Given the description of an element on the screen output the (x, y) to click on. 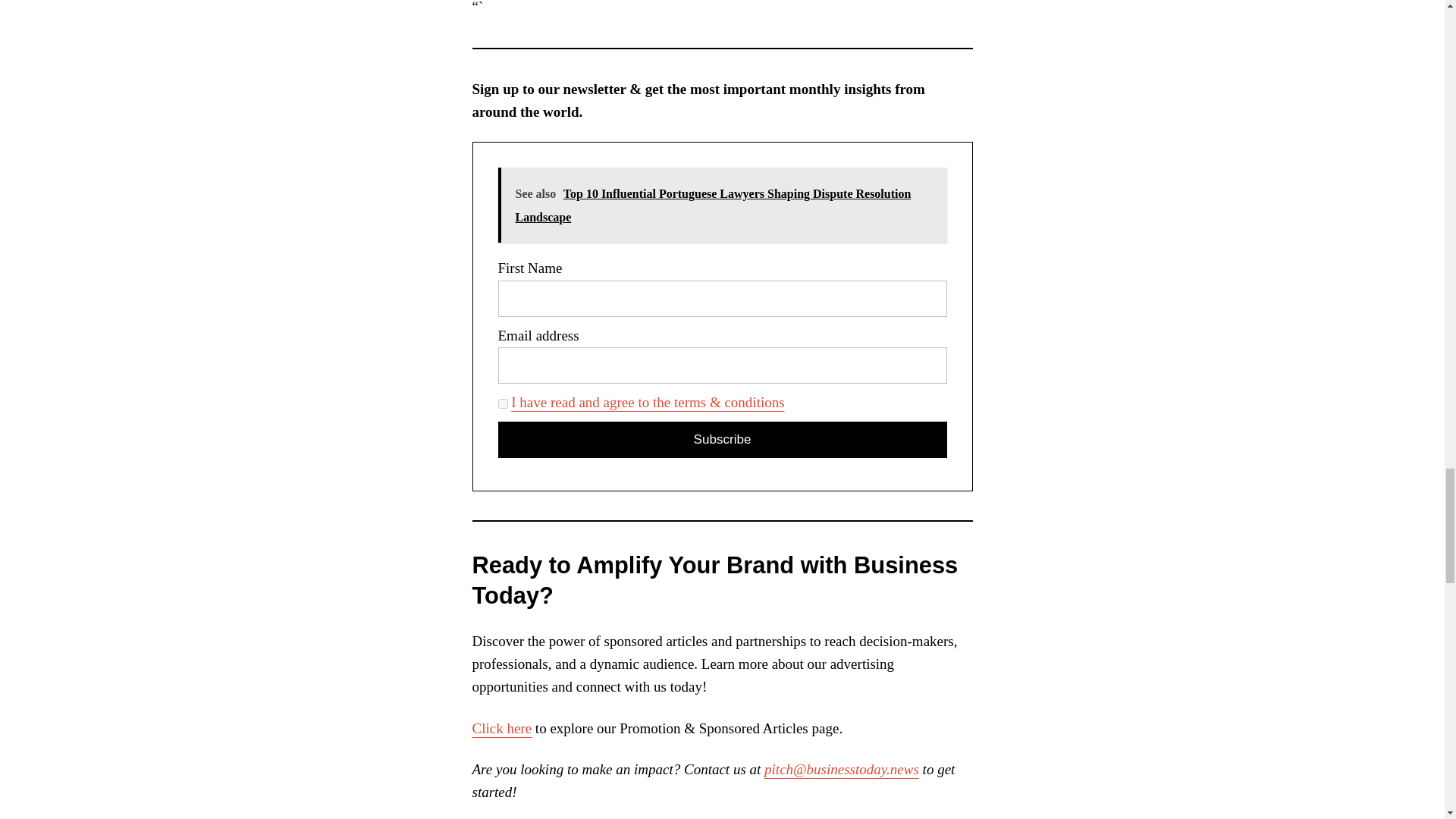
1 (501, 403)
Subscribe (721, 439)
